Given the description of an element on the screen output the (x, y) to click on. 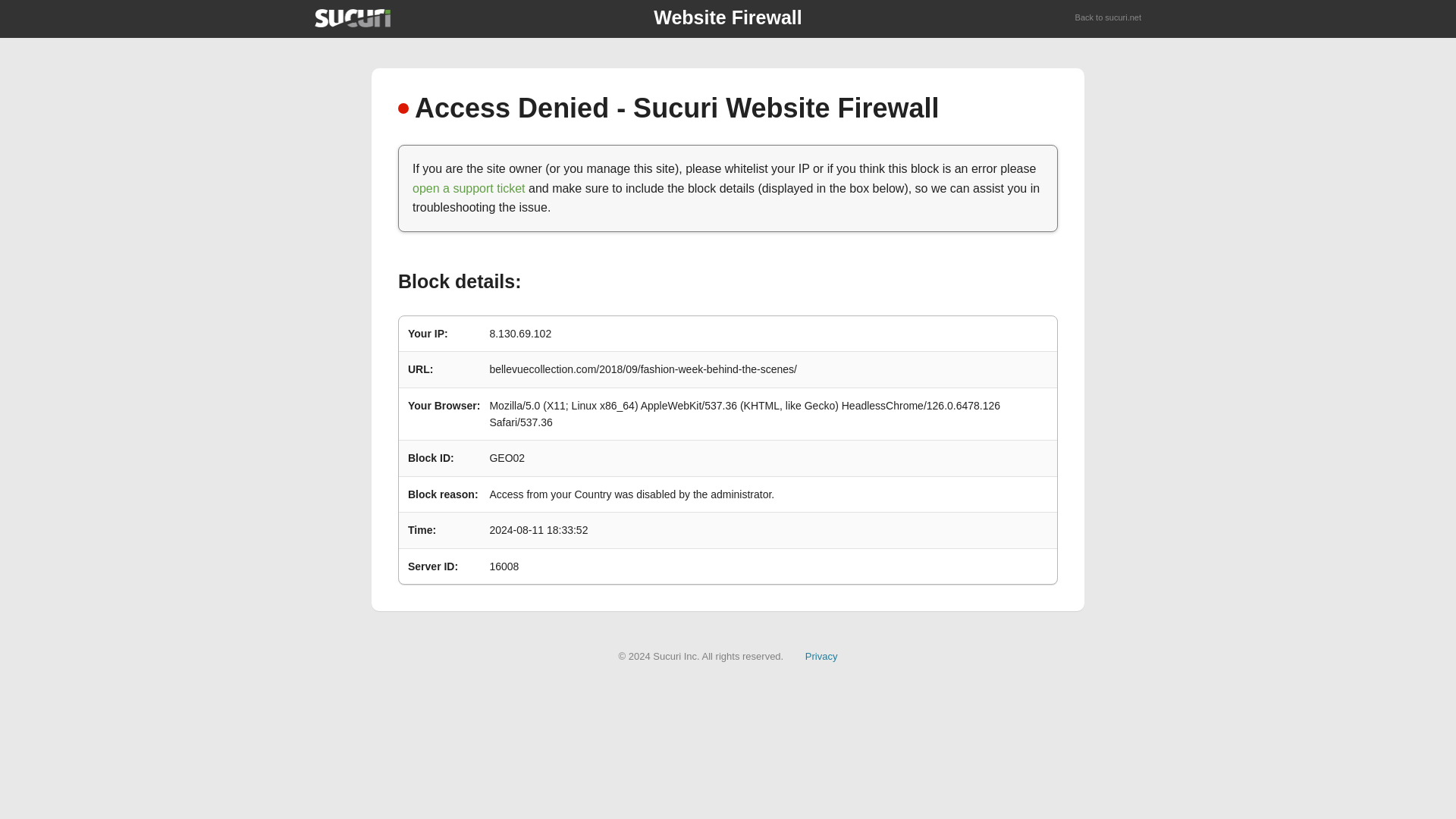
open a support ticket (468, 187)
Privacy (821, 655)
Back to sucuri.net (1108, 18)
